Given the description of an element on the screen output the (x, y) to click on. 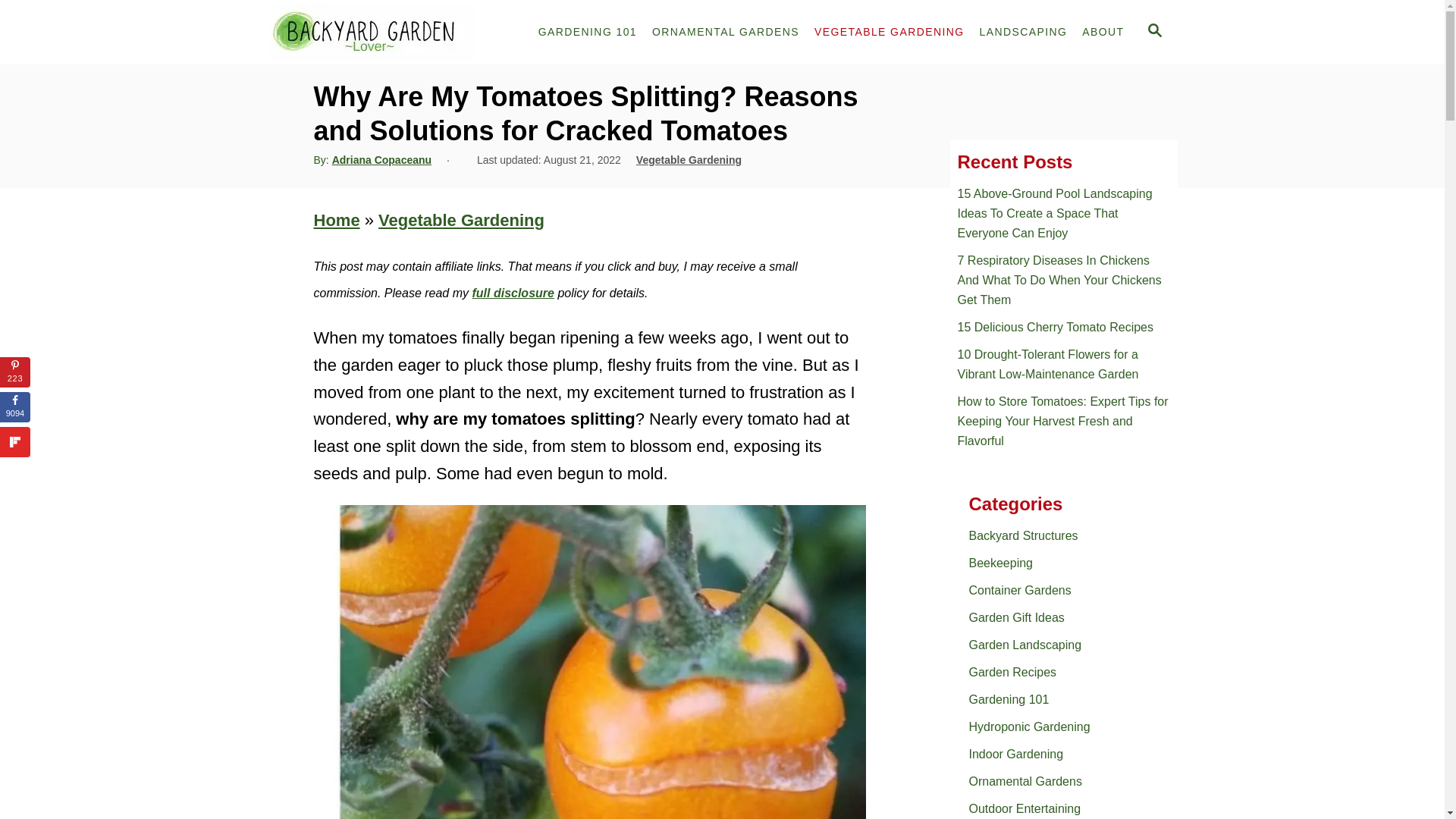
Vegetable Gardening (461, 220)
Backyard Garden Lover (389, 32)
LANDSCAPING (1023, 32)
VEGETABLE GARDENING (889, 32)
Vegetable Gardening (688, 159)
Adriana Copaceanu (380, 159)
15 Delicious Cherry Tomato Recipes (1062, 327)
SEARCH (1154, 32)
Share on Flipboard (15, 441)
Home (336, 220)
GARDENING 101 (588, 32)
